Given the description of an element on the screen output the (x, y) to click on. 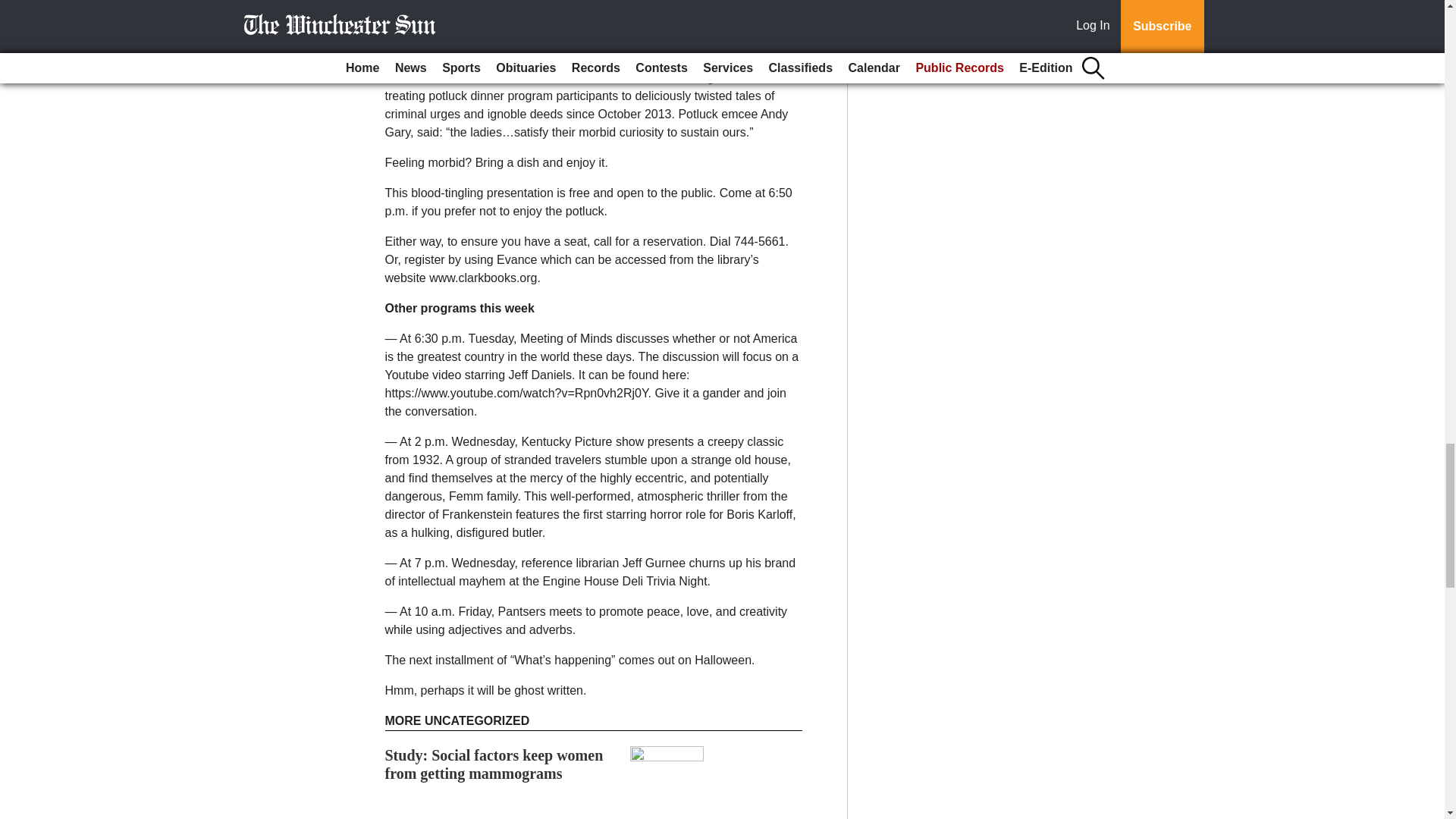
Study: Social factors keep women from getting mammograms (494, 764)
Study: Social factors keep women from getting mammograms (494, 764)
